Given the description of an element on the screen output the (x, y) to click on. 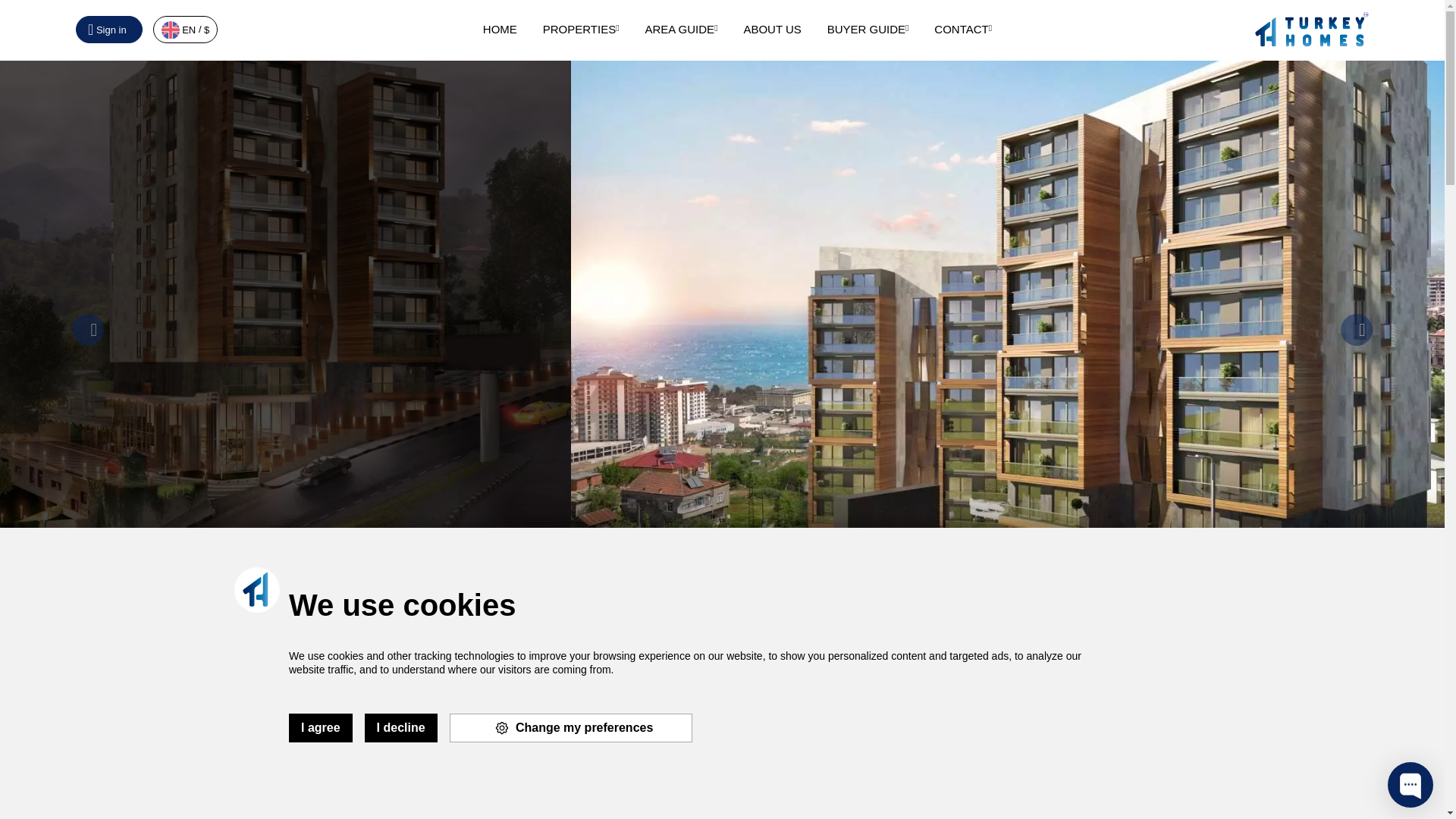
PROPERTIES (581, 28)
ABOUT US (771, 28)
AREA GUIDE (681, 28)
HOME (499, 28)
Sign in (108, 29)
BUYER GUIDE (867, 28)
